Given the description of an element on the screen output the (x, y) to click on. 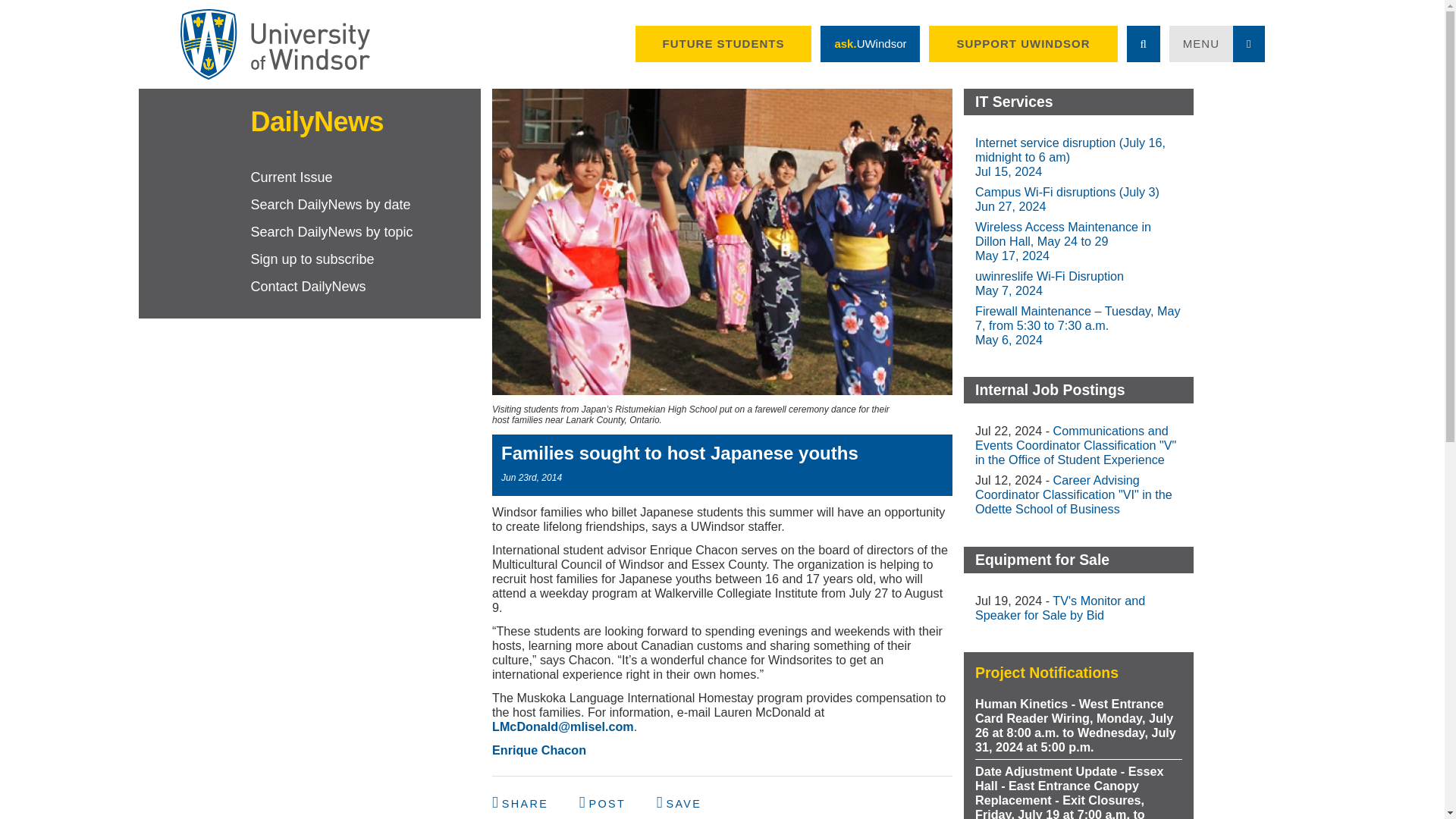
Share us on Facebook (521, 802)
Subscribe to DailyNews (365, 258)
Share us on Pinterest (678, 802)
Home (274, 44)
Go to DailyNews home page (309, 121)
